Given the description of an element on the screen output the (x, y) to click on. 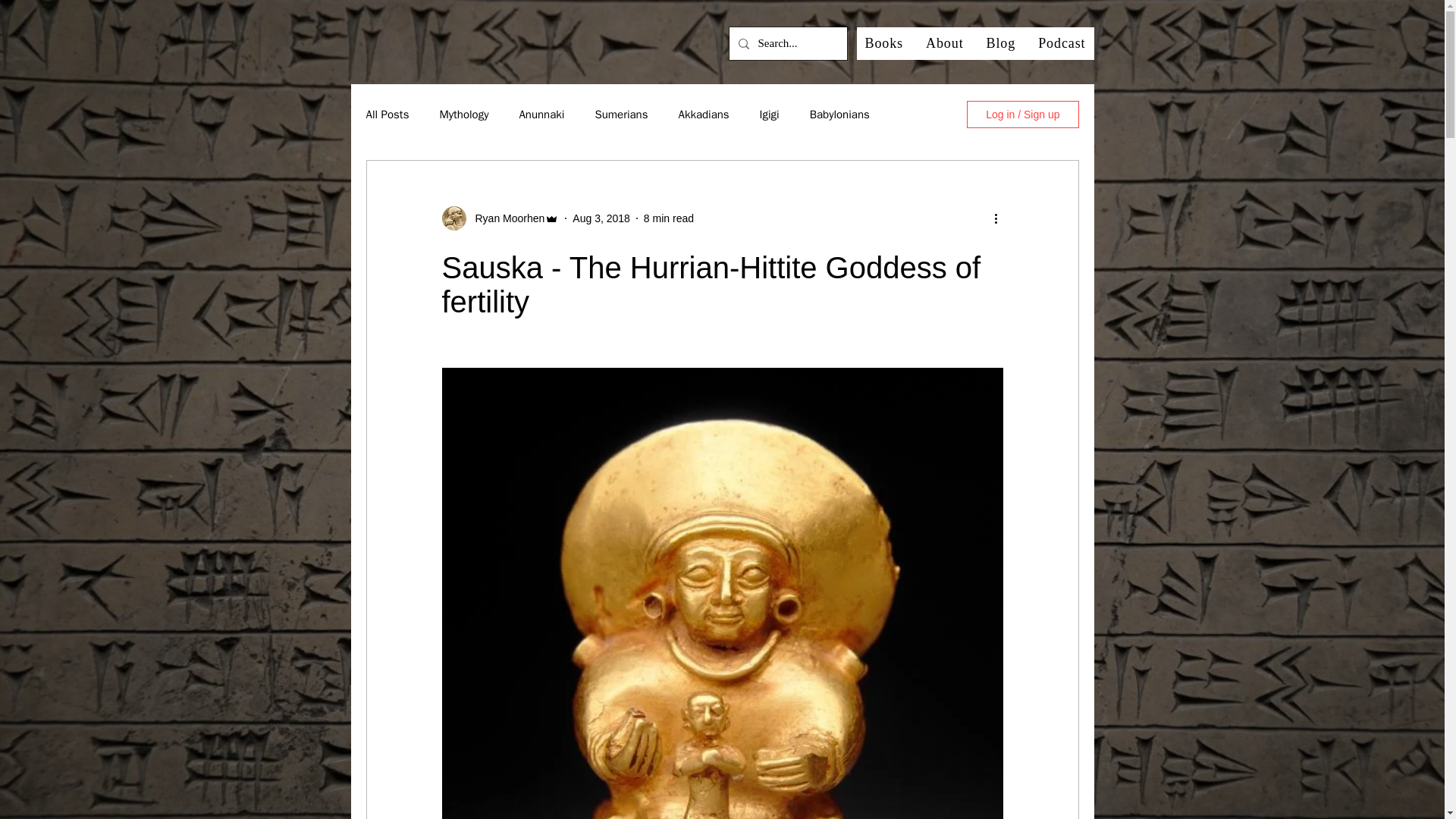
8 min read (668, 218)
Blog (1001, 43)
Anunnaki (541, 114)
Podcast (1061, 43)
Akkadians (703, 114)
Aug 3, 2018 (601, 218)
Ryan Moorhen (504, 218)
Sumerians (620, 114)
Ryan Moorhen (500, 218)
Igigi (769, 114)
